Given the description of an element on the screen output the (x, y) to click on. 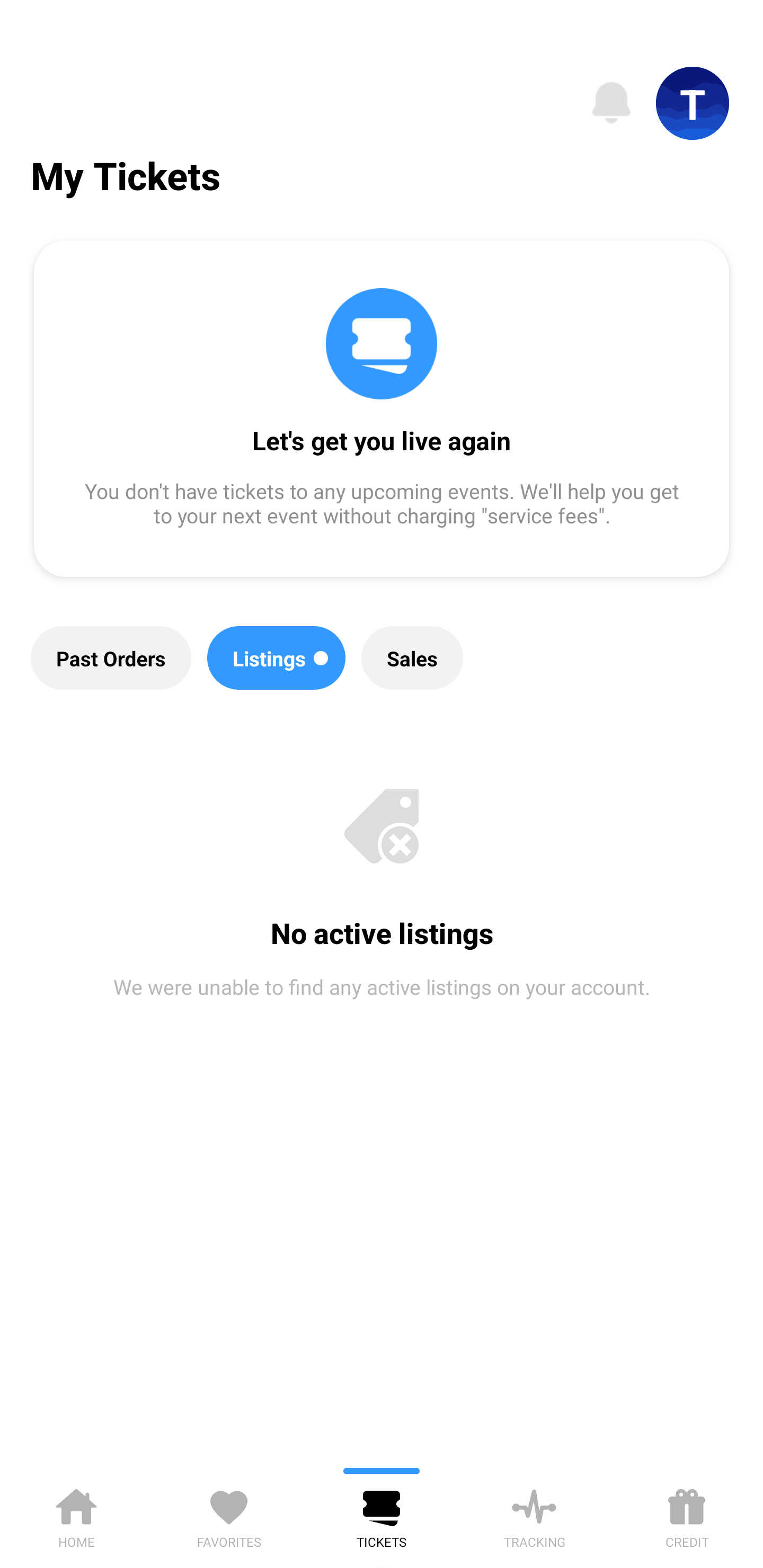
T (692, 103)
Past Orders (110, 657)
Listings (276, 657)
Sales (412, 657)
HOME (76, 1515)
FAVORITES (228, 1515)
TICKETS (381, 1515)
TRACKING (533, 1515)
CREDIT (686, 1515)
